Given the description of an element on the screen output the (x, y) to click on. 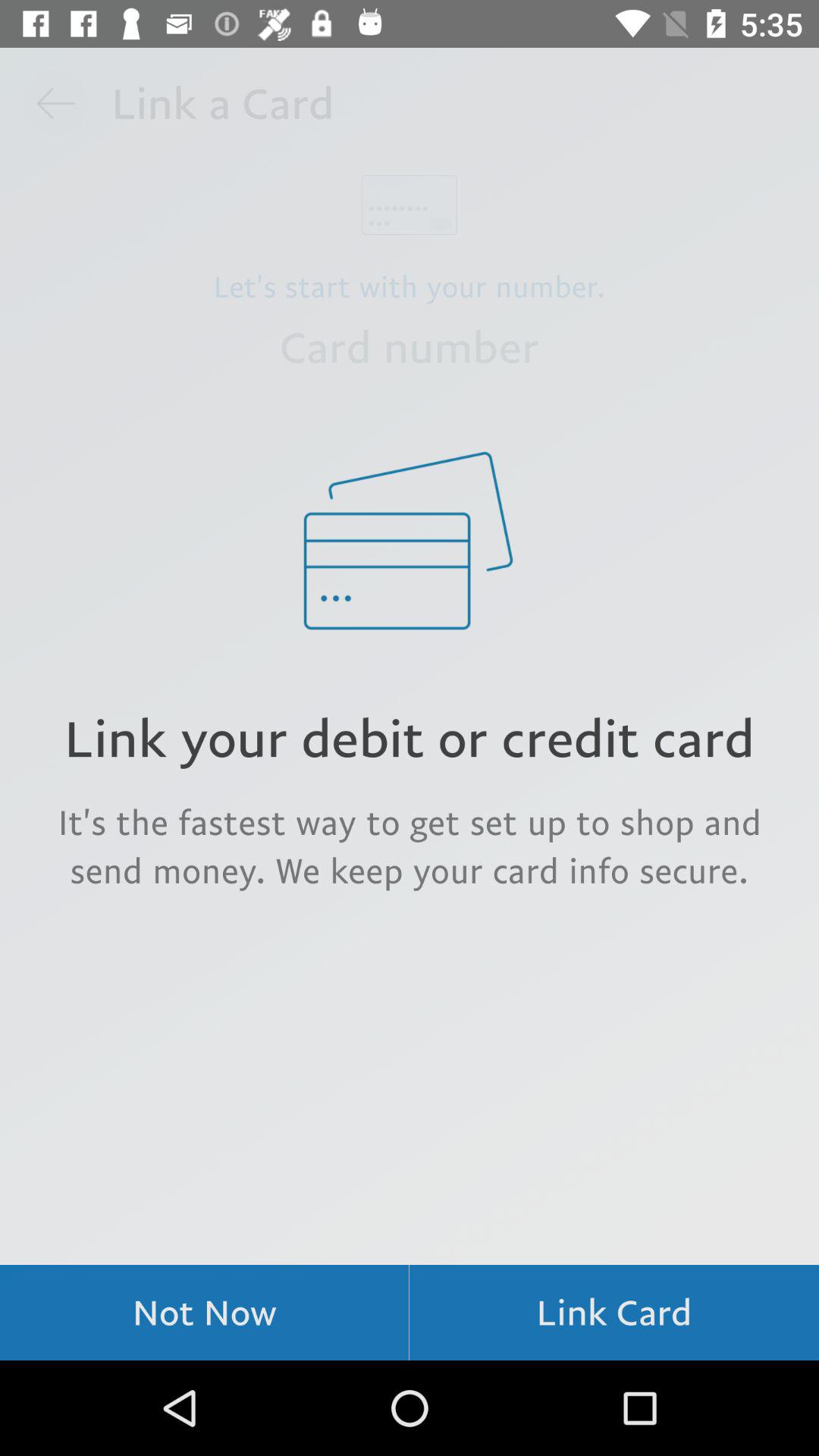
launch item above the not now icon (409, 845)
